Given the description of an element on the screen output the (x, y) to click on. 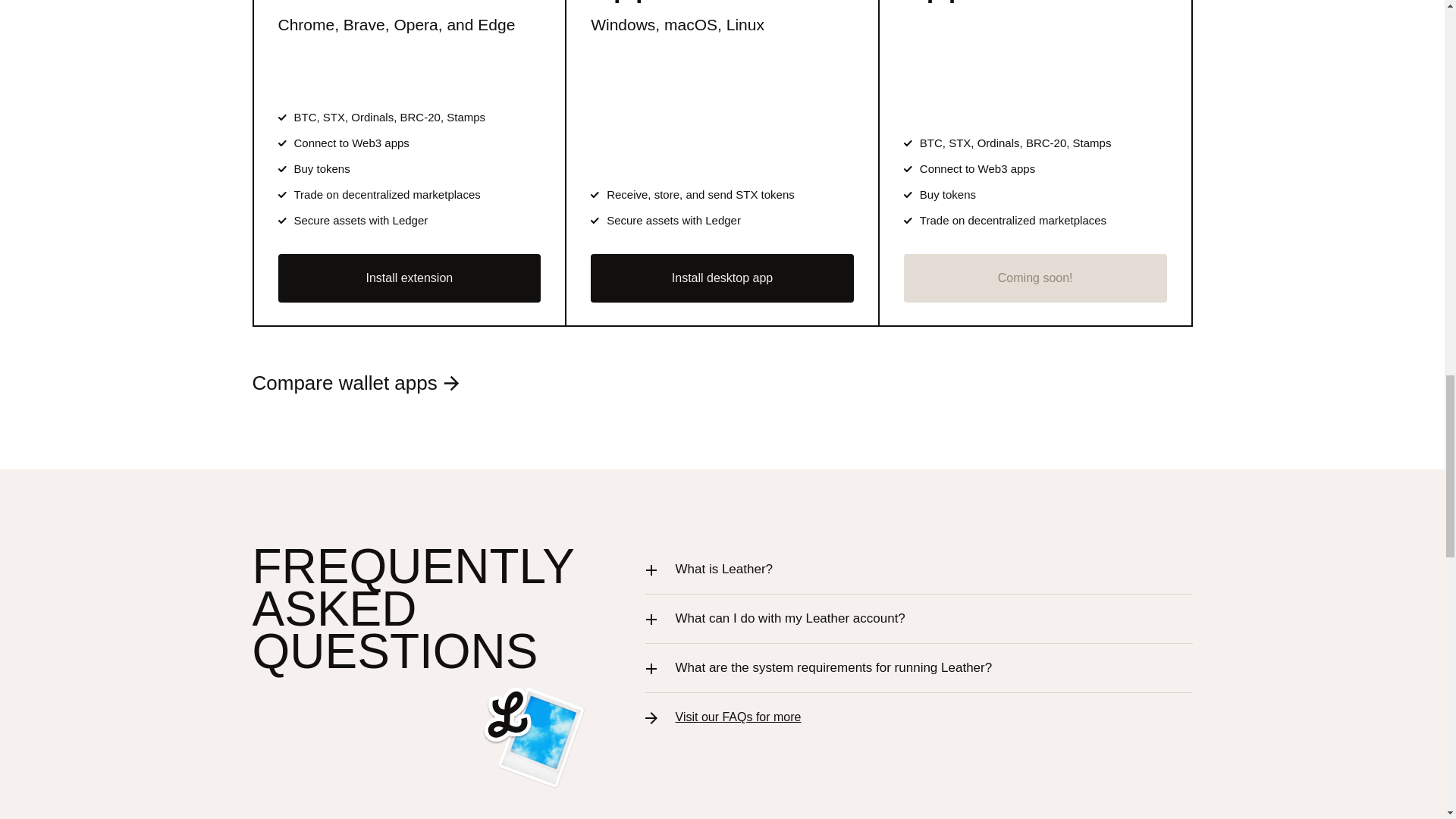
Install desktop app (722, 277)
Install extension (409, 277)
Coming soon! (1035, 277)
Compare wallet apps (356, 382)
Visit our FAQs for more (737, 716)
